Given the description of an element on the screen output the (x, y) to click on. 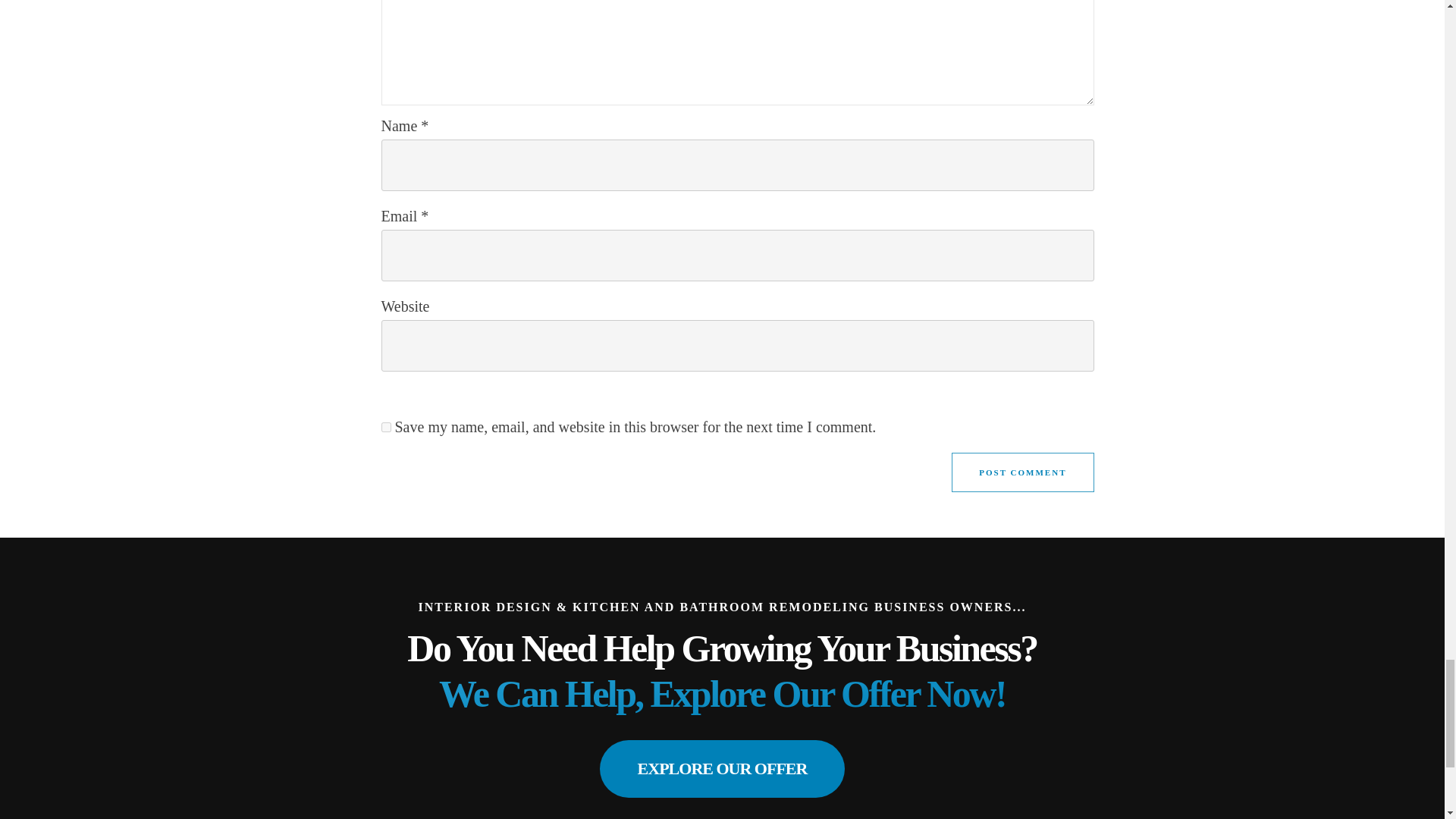
yes (385, 427)
